Given the description of an element on the screen output the (x, y) to click on. 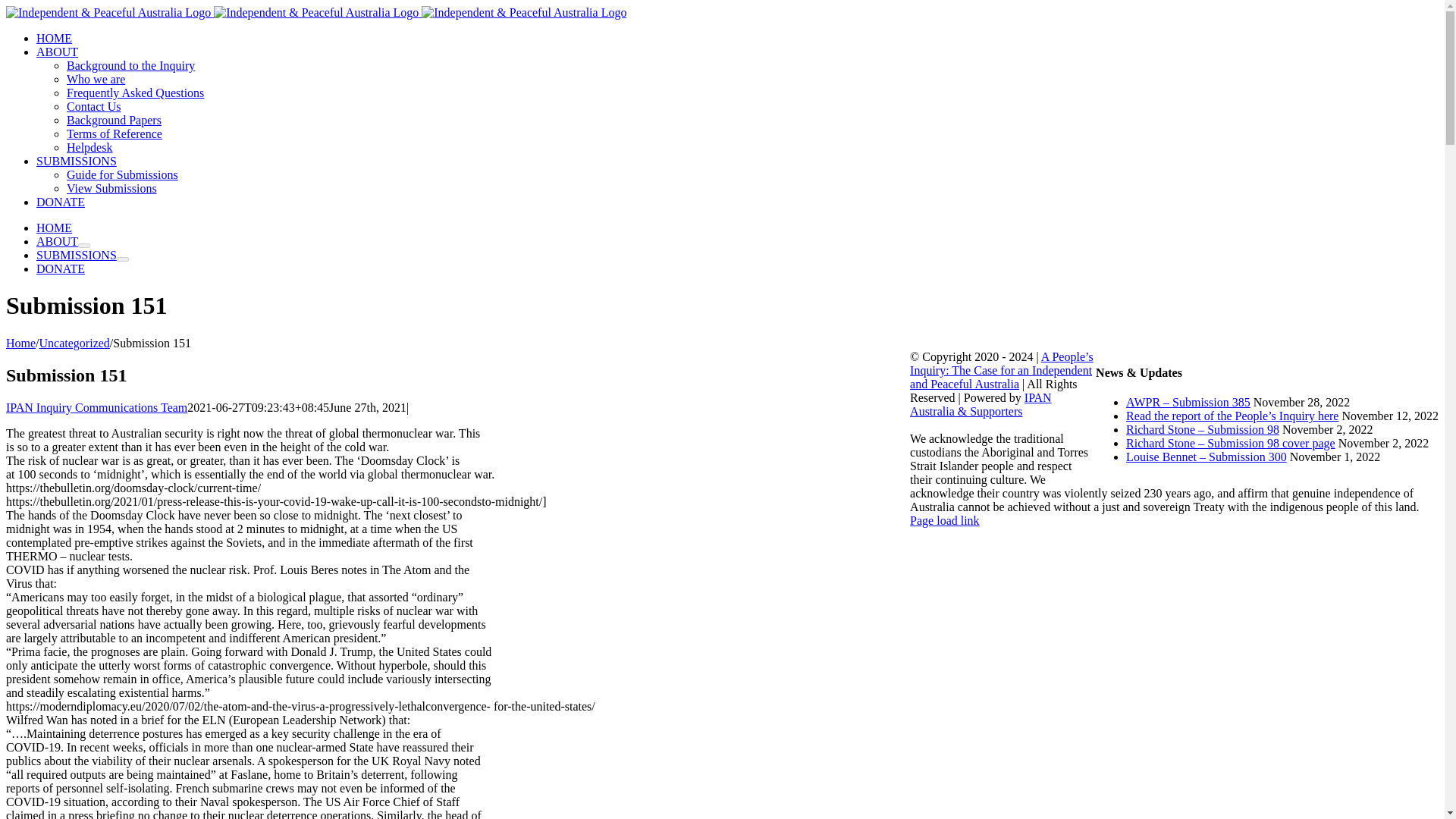
View Submissions (111, 187)
Home (19, 342)
Frequently Asked Questions (134, 92)
Guide for Submissions (121, 174)
Background to the Inquiry (130, 65)
ABOUT (57, 241)
HOME (53, 227)
IPAN Inquiry Communications Team (96, 407)
Uncategorized (74, 342)
DONATE (60, 201)
DONATE (60, 268)
Terms of Reference (113, 133)
Contact Us (93, 106)
ABOUT (57, 51)
